Given the description of an element on the screen output the (x, y) to click on. 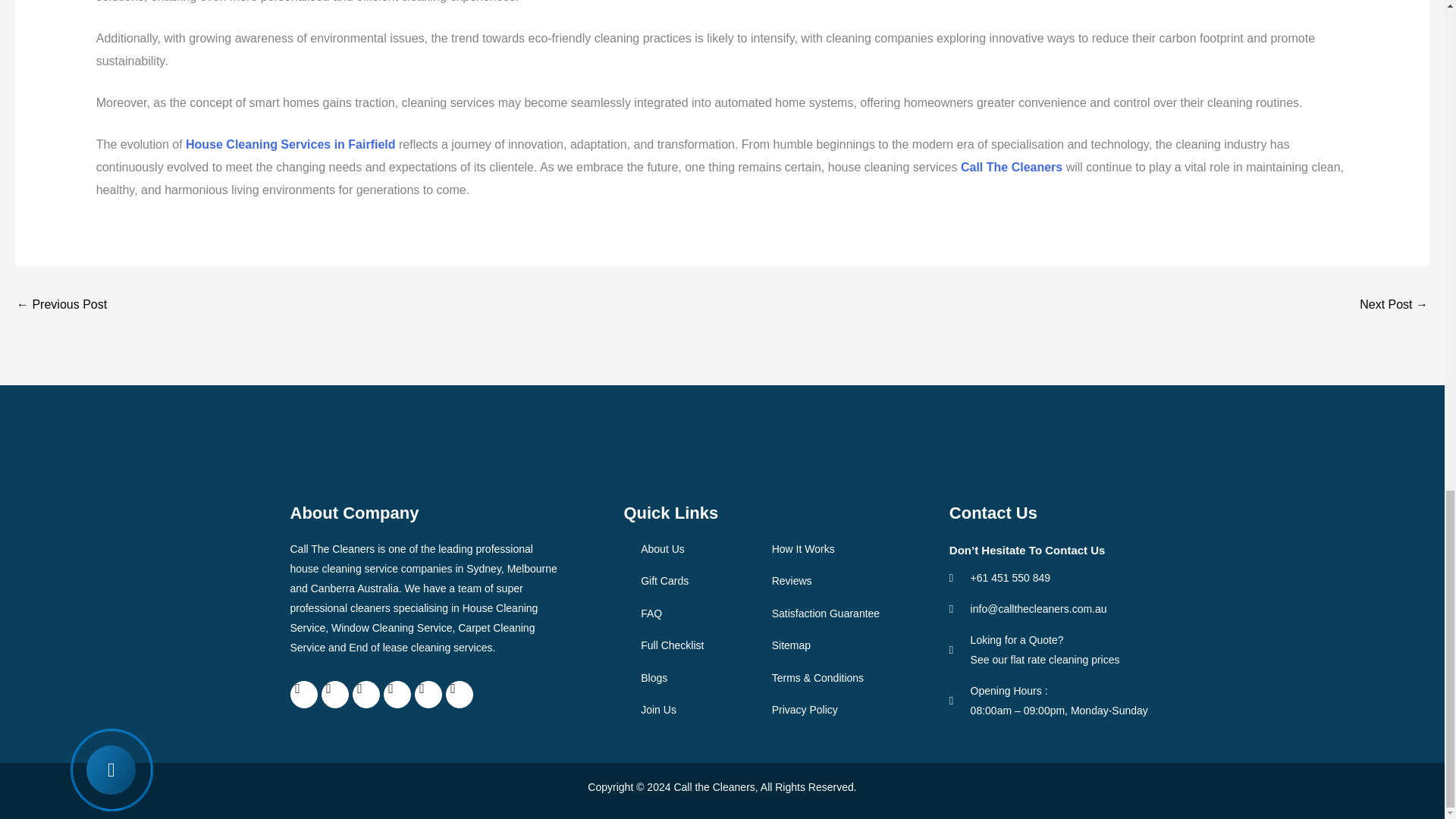
Cleaning Business Website Design (751, 806)
